Given the description of an element on the screen output the (x, y) to click on. 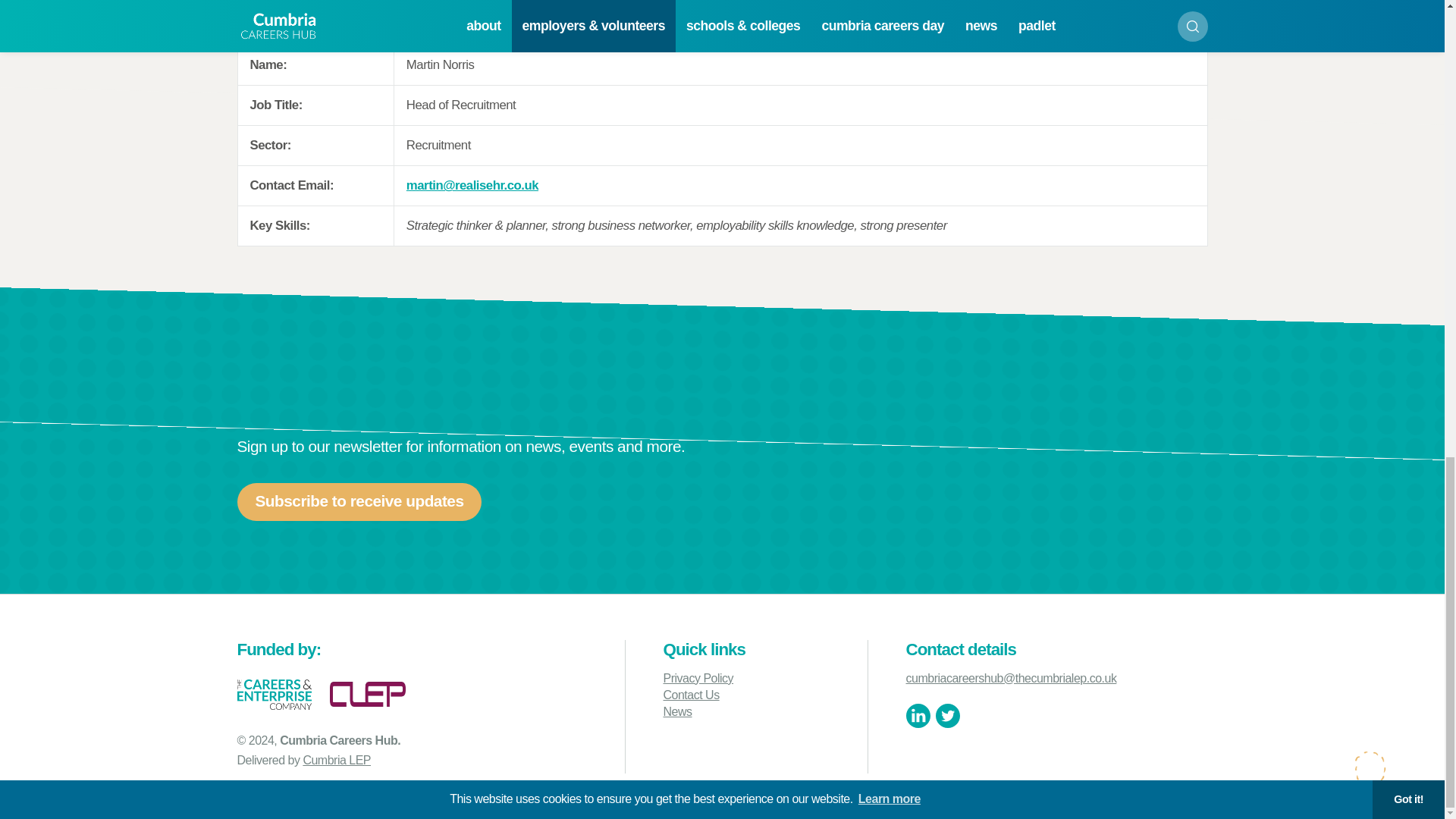
Cumbria LEP (336, 759)
News (676, 711)
Privacy Policy (697, 677)
Subscribe to receive updates (358, 501)
Contact Us (690, 694)
